Given the description of an element on the screen output the (x, y) to click on. 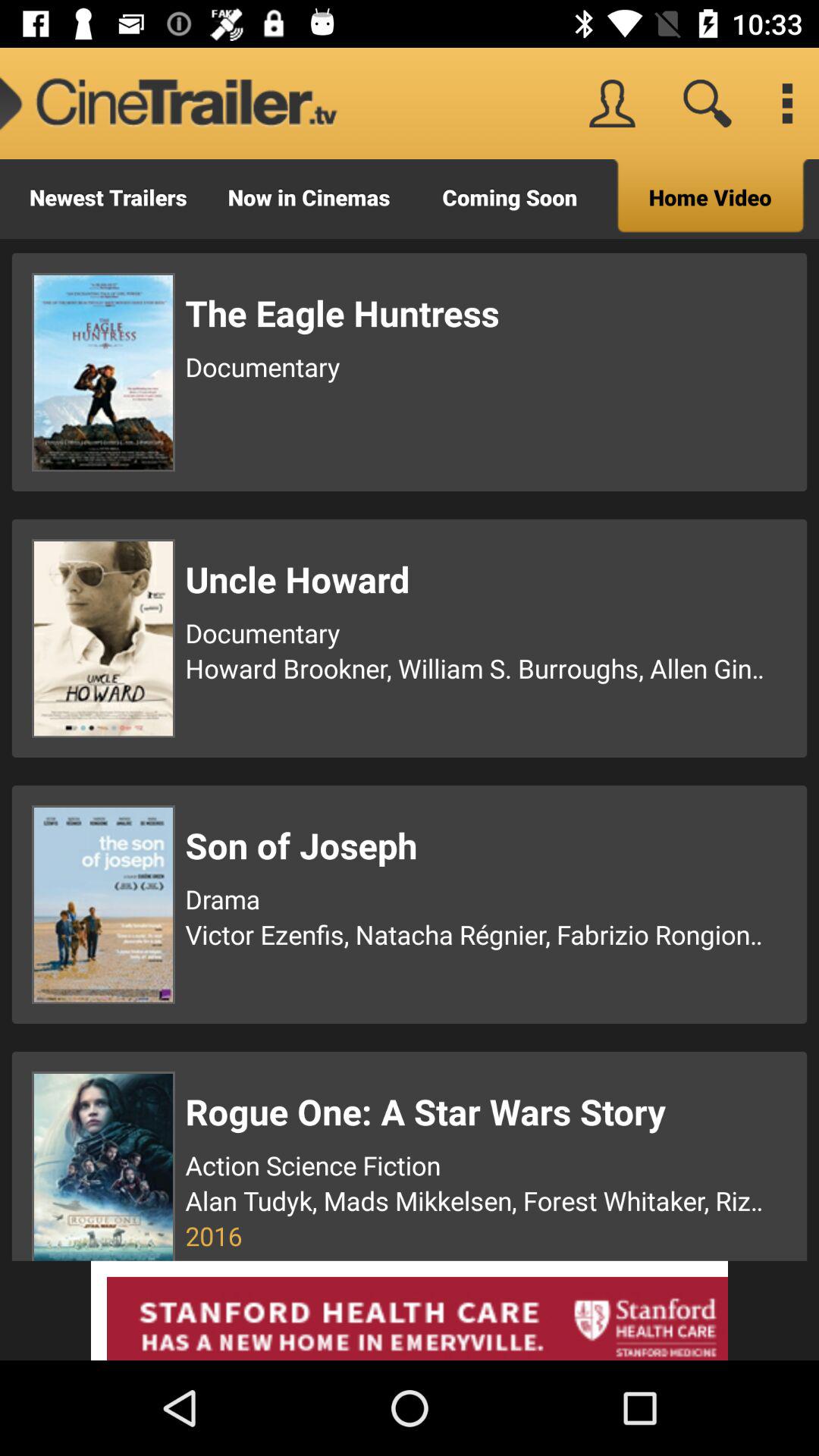
advertisement box bottom page (409, 1310)
